Given the description of an element on the screen output the (x, y) to click on. 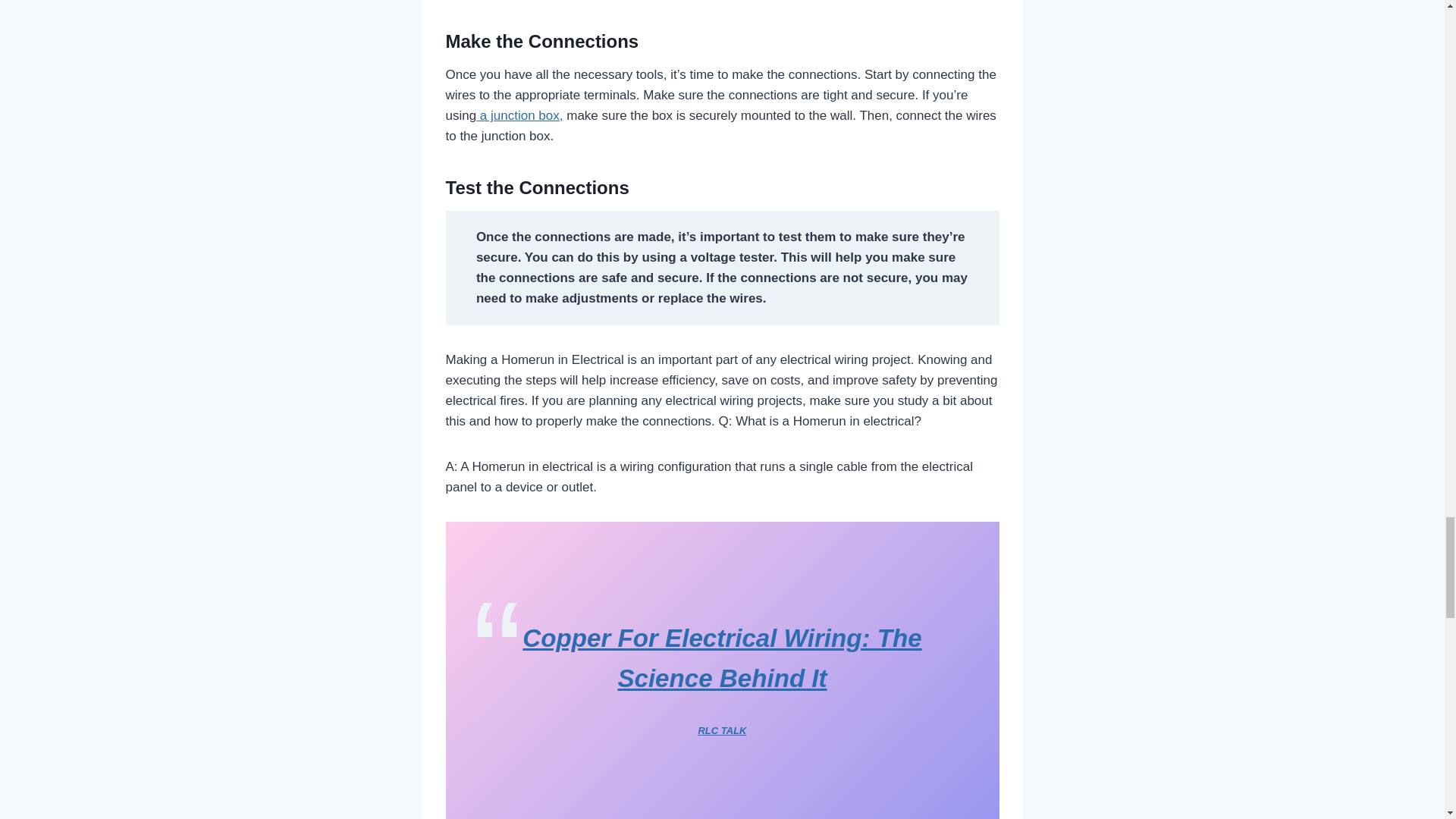
a junction box, (519, 115)
RLC TALK (721, 730)
Copper For Electrical Wiring: The Science Behind It (721, 658)
